Given the description of an element on the screen output the (x, y) to click on. 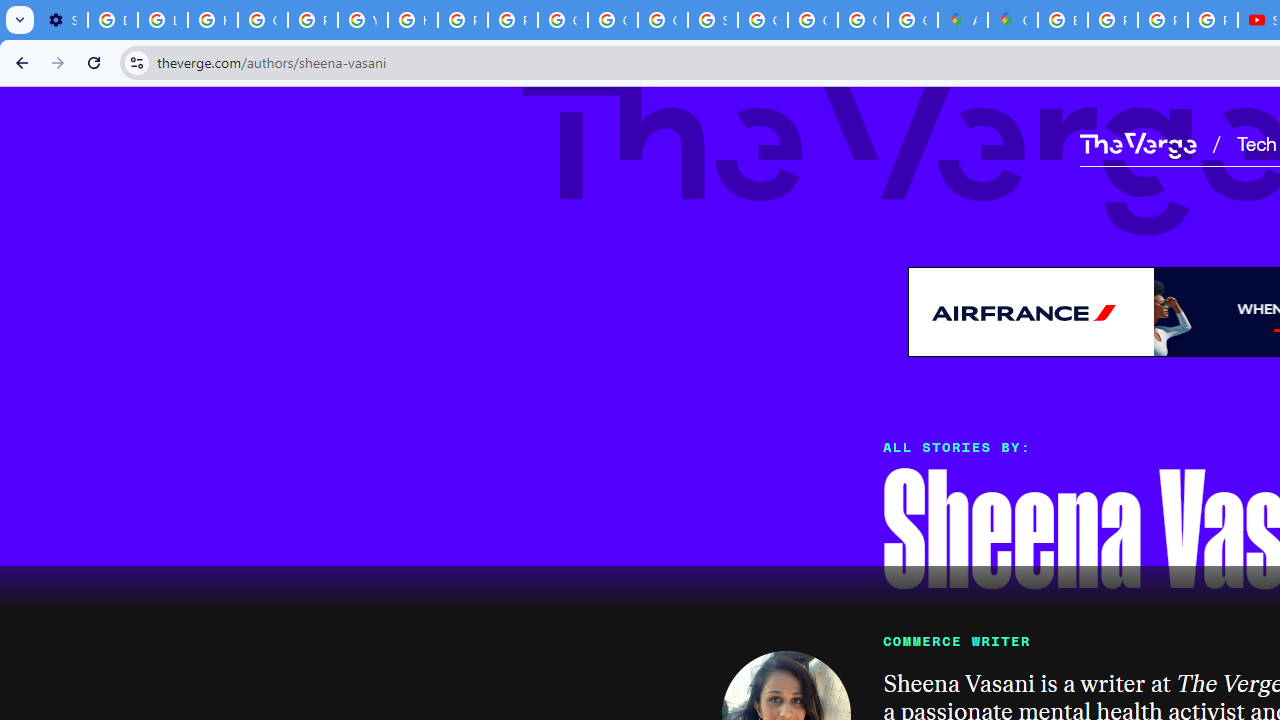
Blogger Policies and Guidelines - Transparency Center (1062, 20)
Tech (1256, 142)
Google Maps (1013, 20)
The Verge (1137, 145)
